Given the description of an element on the screen output the (x, y) to click on. 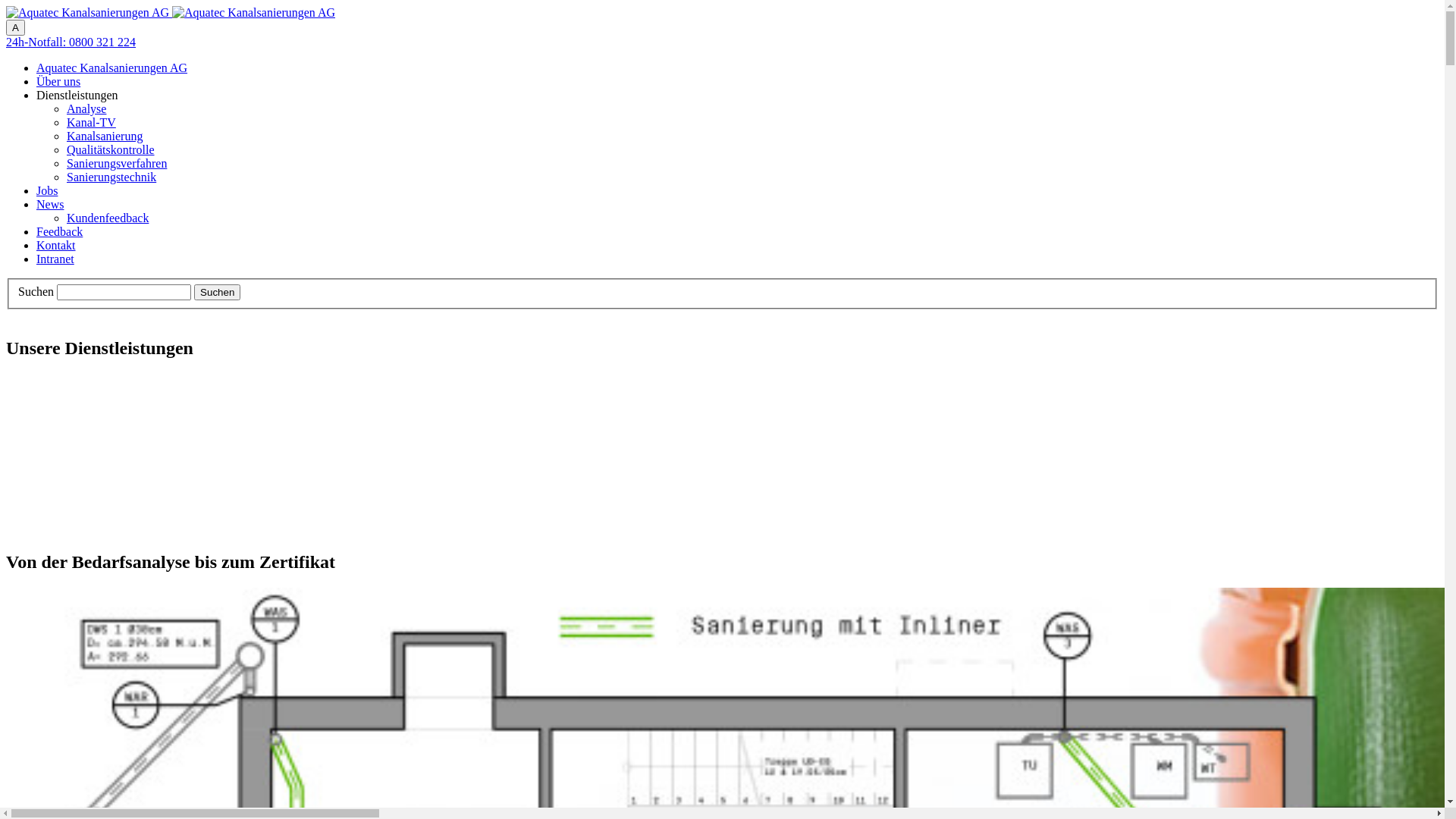
Kanalsanierung Element type: text (104, 135)
Kontakt Element type: text (55, 244)
Jobs Element type: text (46, 190)
Suchen Element type: text (217, 292)
Sanierungstechnik Element type: text (111, 176)
Aquatec Kanalsanierungen AG Element type: text (111, 67)
Intranet Element type: text (55, 258)
A Element type: text (15, 27)
Analyse Element type: text (86, 108)
News Element type: text (49, 203)
Kanal-TV Element type: text (91, 122)
Sanierungsverfahren Element type: text (116, 162)
24h-Notfall: 0800 321 224 Element type: text (70, 41)
Feedback Element type: text (59, 231)
Kundenfeedback Element type: text (107, 217)
